Given the description of an element on the screen output the (x, y) to click on. 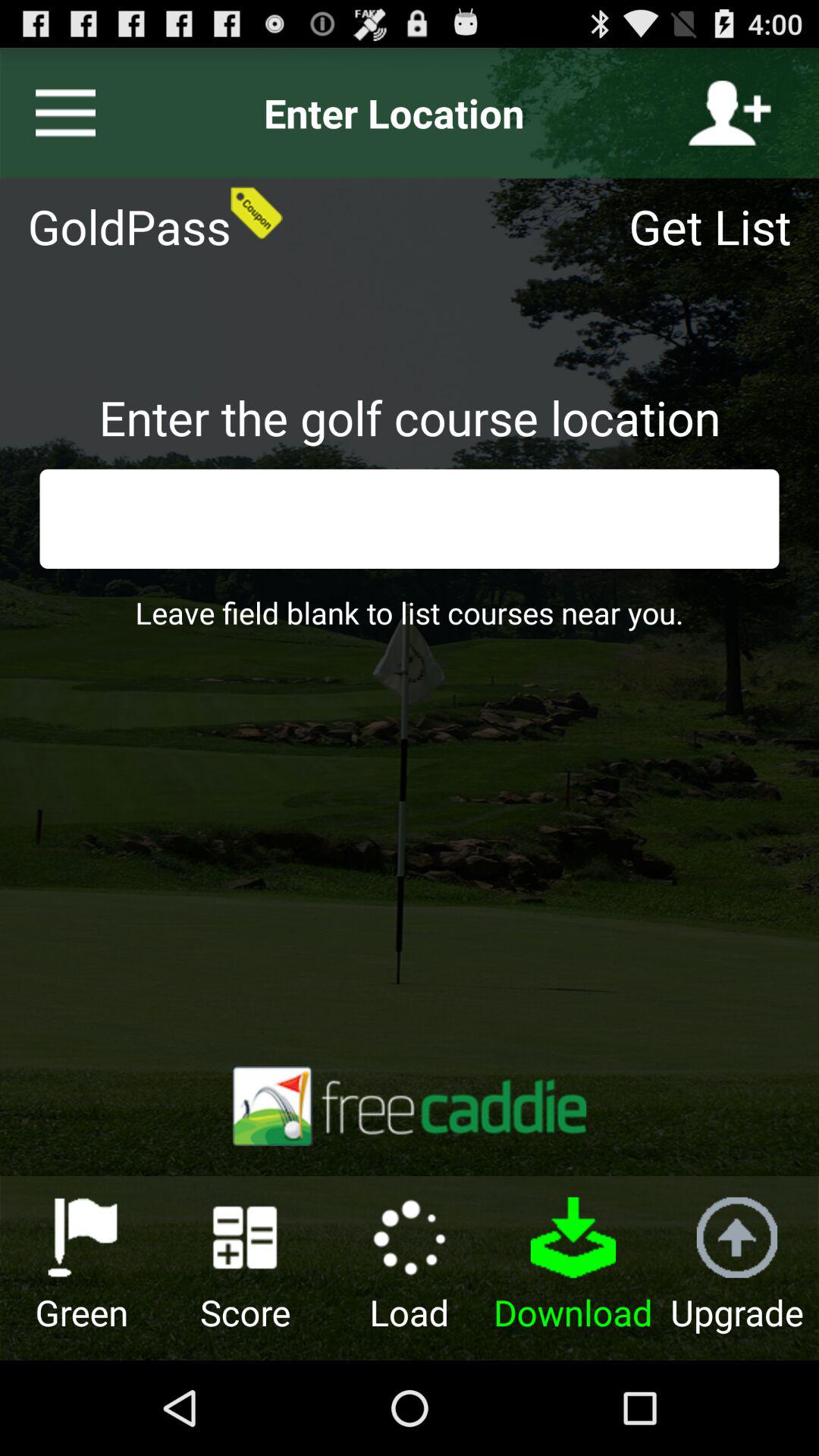
tap icon next to the enter location (729, 112)
